Given the description of an element on the screen output the (x, y) to click on. 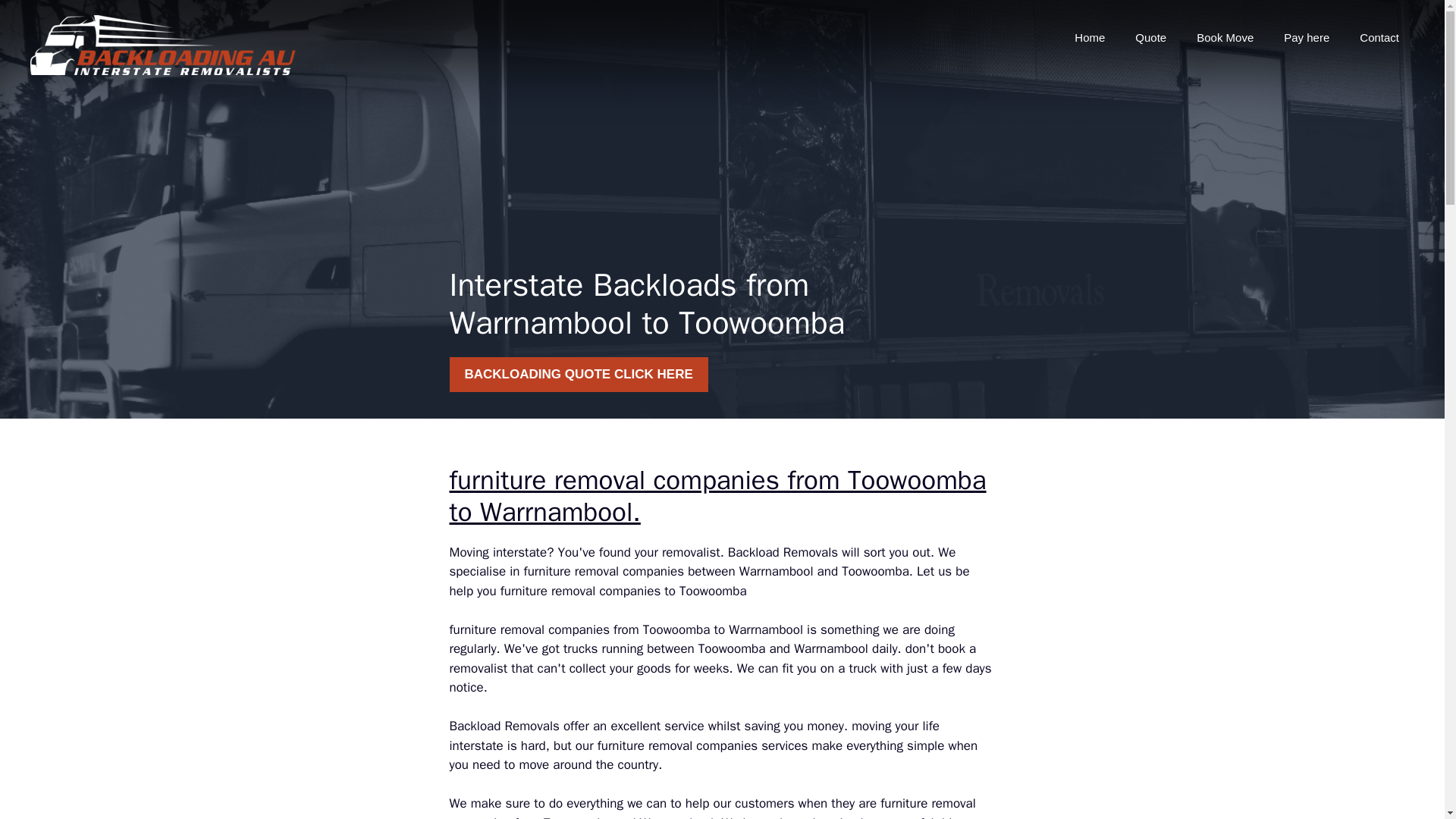
Pay here (1305, 37)
Home (1089, 37)
Contact (1378, 37)
Quote (1149, 37)
Search (42, 18)
BACKLOADING QUOTE CLICK HERE (577, 374)
Book Move (1224, 37)
